Given the description of an element on the screen output the (x, y) to click on. 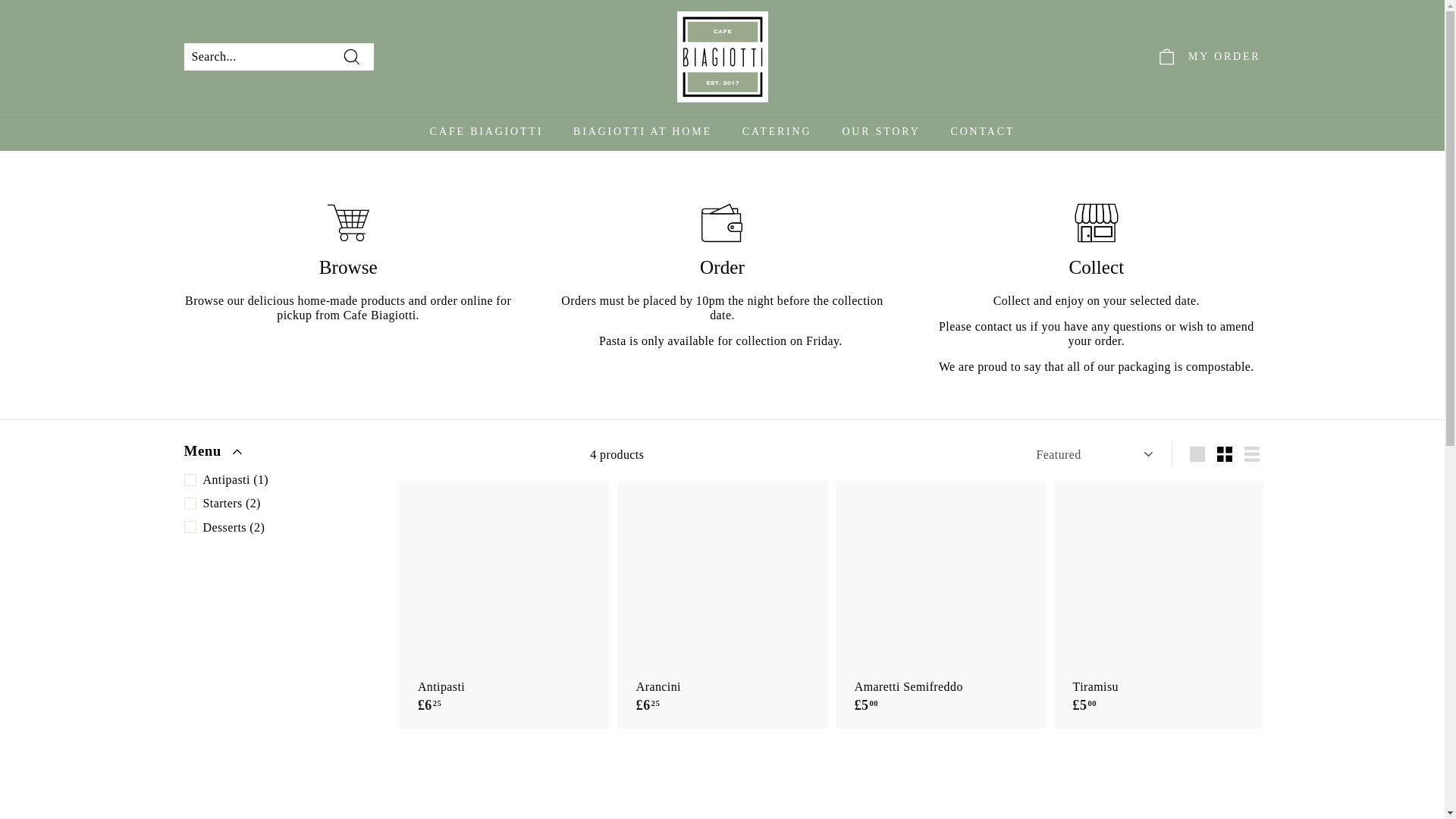
BIAGIOTTI AT HOME (641, 131)
CATERING (776, 131)
List (1252, 453)
Large (1197, 453)
Contact (1000, 326)
CONTACT (983, 131)
OUR STORY (880, 131)
CAFE BIAGIOTTI (485, 131)
Small (1225, 453)
